Given the description of an element on the screen output the (x, y) to click on. 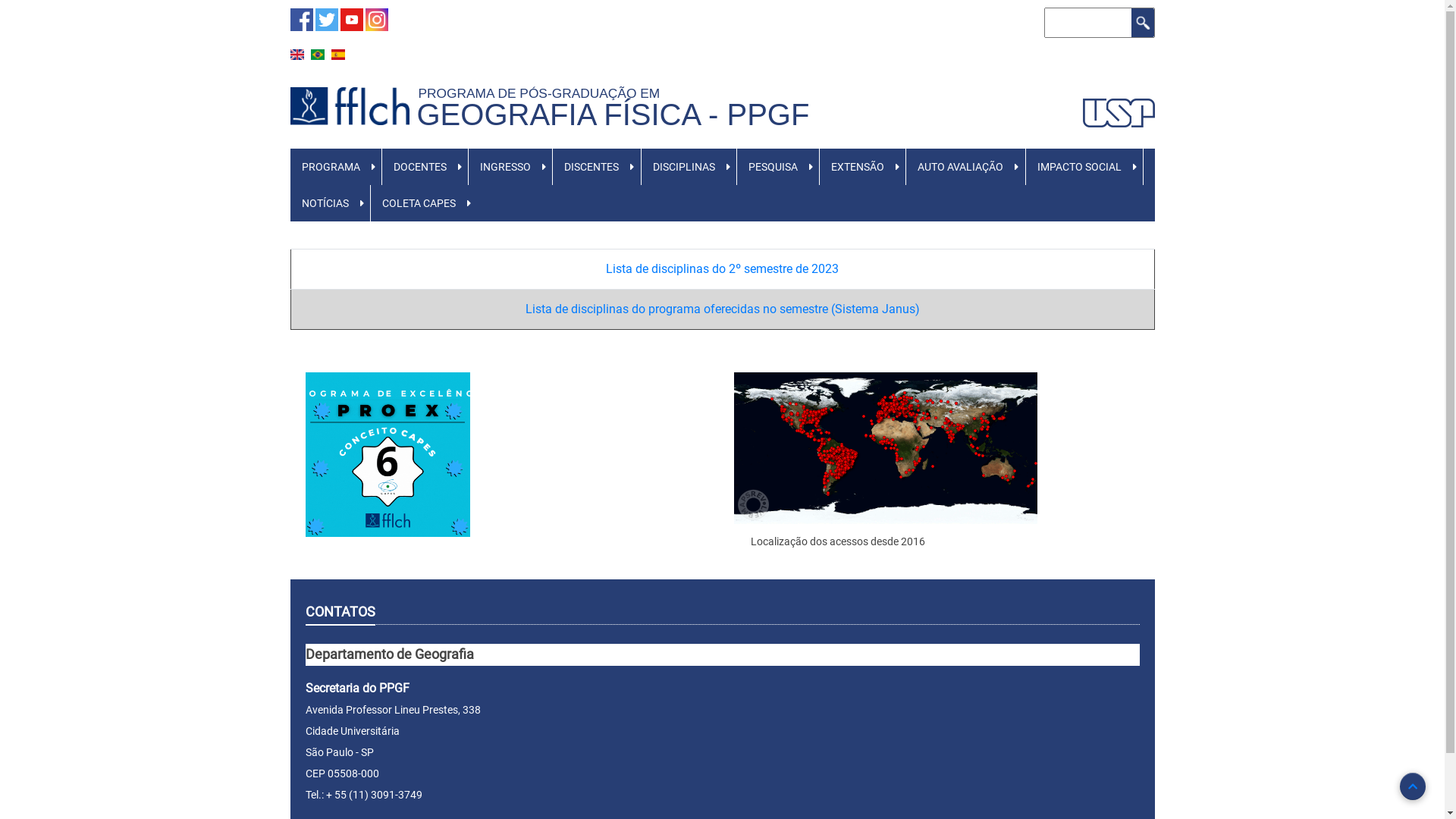
English Element type: hover (296, 54)
Portuguese, Brazil Element type: hover (317, 54)
COLETA CAPES Element type: text (418, 203)
DISCIPLINAS Element type: text (683, 166)
DISCENTES Element type: text (591, 166)
DOCENTES Element type: text (420, 166)
Spanish Element type: hover (337, 54)
Back to Top Element type: hover (1412, 786)
Buscar Element type: text (1142, 22)
PROGRAMA Element type: text (329, 166)
INGRESSO Element type: text (505, 166)
IMPACTO SOCIAL Element type: text (1078, 166)
PESQUISA Element type: text (773, 166)
